Given the description of an element on the screen output the (x, y) to click on. 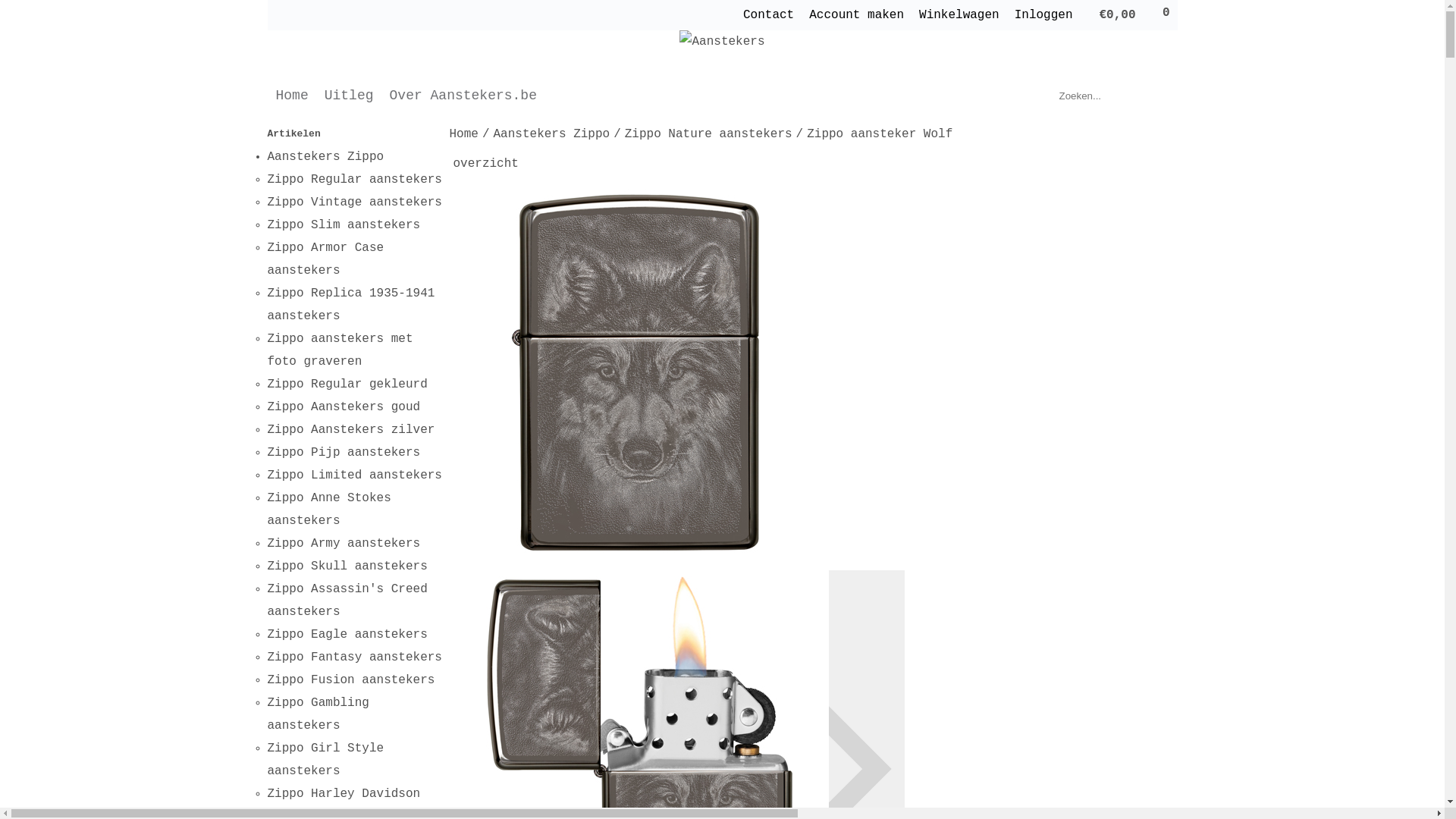
Zippo Slim aanstekers Element type: text (343, 225)
Zippo aansteker Wolf Element type: text (879, 135)
Zippo Aanstekers zilver Element type: text (350, 429)
Account maken Element type: text (856, 14)
Winkelwagen Element type: text (959, 14)
Zippo Fantasy aanstekers Element type: text (353, 657)
Home Element type: text (462, 135)
Zippo Anne Stokes aanstekers Element type: text (328, 509)
Aanstekers Zippo Element type: text (551, 135)
Home Element type: text (292, 95)
Zippo Gambling aanstekers Element type: text (317, 714)
Zippo Girl Style aanstekers Element type: text (324, 759)
Over Aanstekers.be Element type: text (462, 95)
Zippo Assassin's Creed aanstekers Element type: text (346, 600)
Zippo Aanstekers goud Element type: text (343, 407)
Zippo aansteker Wolf Element type: hover (638, 371)
Inloggen Element type: text (1043, 14)
Zippo Pijp aanstekers Element type: text (343, 452)
Uitleg Element type: text (348, 95)
Zippo Vintage aanstekers Element type: text (353, 202)
Zippo aanstekers met foto graveren Element type: text (339, 350)
Zippo Limited aanstekers Element type: text (353, 475)
Zippo Fusion aanstekers Element type: text (350, 680)
Contact Element type: text (768, 14)
Zippo Skull aanstekers Element type: text (346, 566)
overzicht Element type: text (485, 163)
Aanstekers Zippo Element type: text (324, 156)
Zippo Army aanstekers Element type: text (343, 543)
Vorige Element type: hover (1159, 161)
Zippo Armor Case aanstekers Element type: text (324, 259)
Zippo Eagle aanstekers Element type: text (346, 634)
Zippo Regular gekleurd Element type: text (346, 384)
Zippo Replica 1935-1941 aanstekers Element type: text (350, 304)
Volgende Element type: hover (1166, 161)
Zippo Nature aanstekers Element type: text (708, 135)
Zippo Regular aanstekers Element type: text (353, 179)
